Given the description of an element on the screen output the (x, y) to click on. 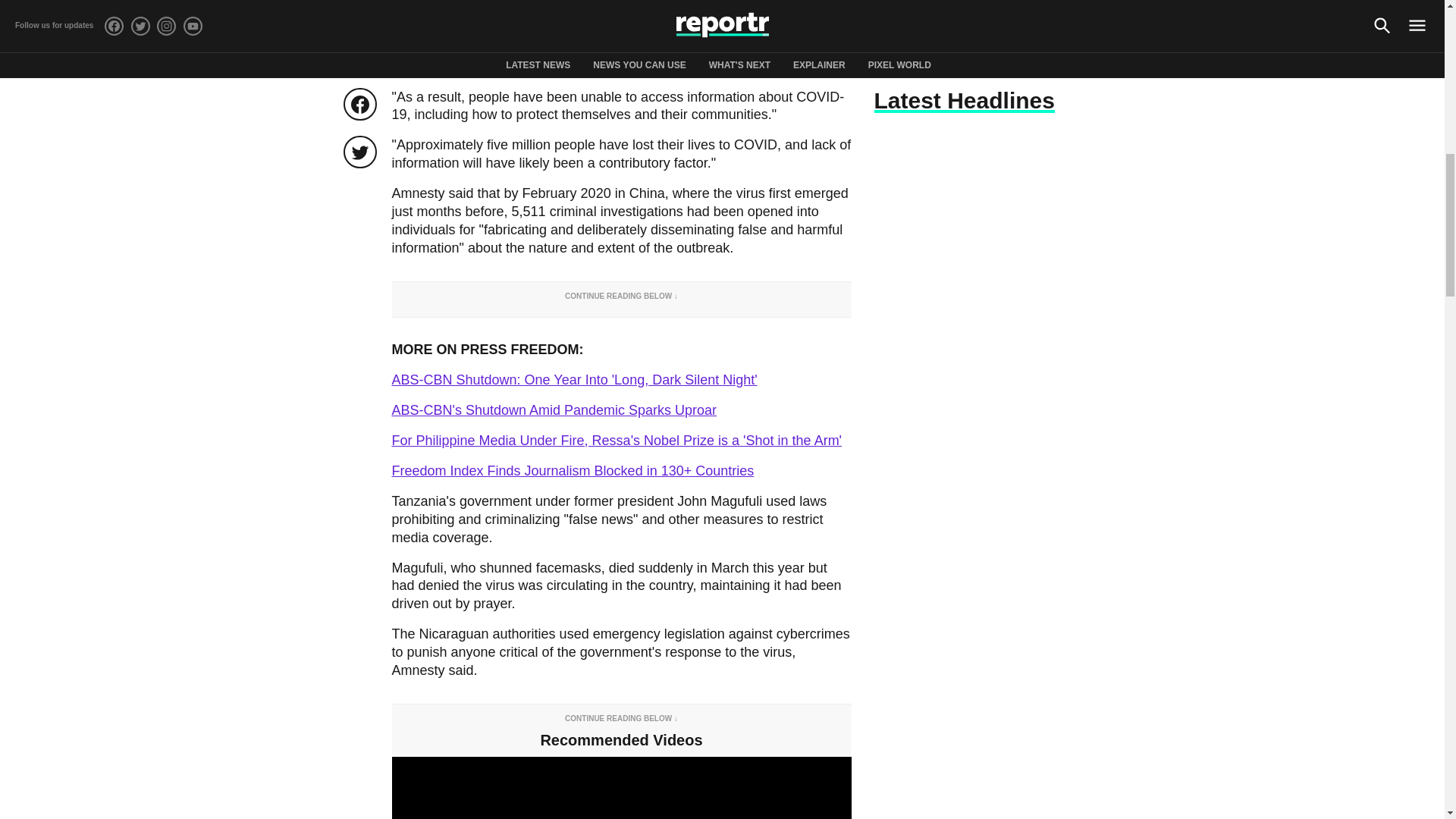
ABS-CBN's Shutdown Amid Pandemic Sparks Uproar (553, 409)
ABS-CBN Shutdown: One Year Into 'Long, Dark Silent Night' (574, 379)
